Given the description of an element on the screen output the (x, y) to click on. 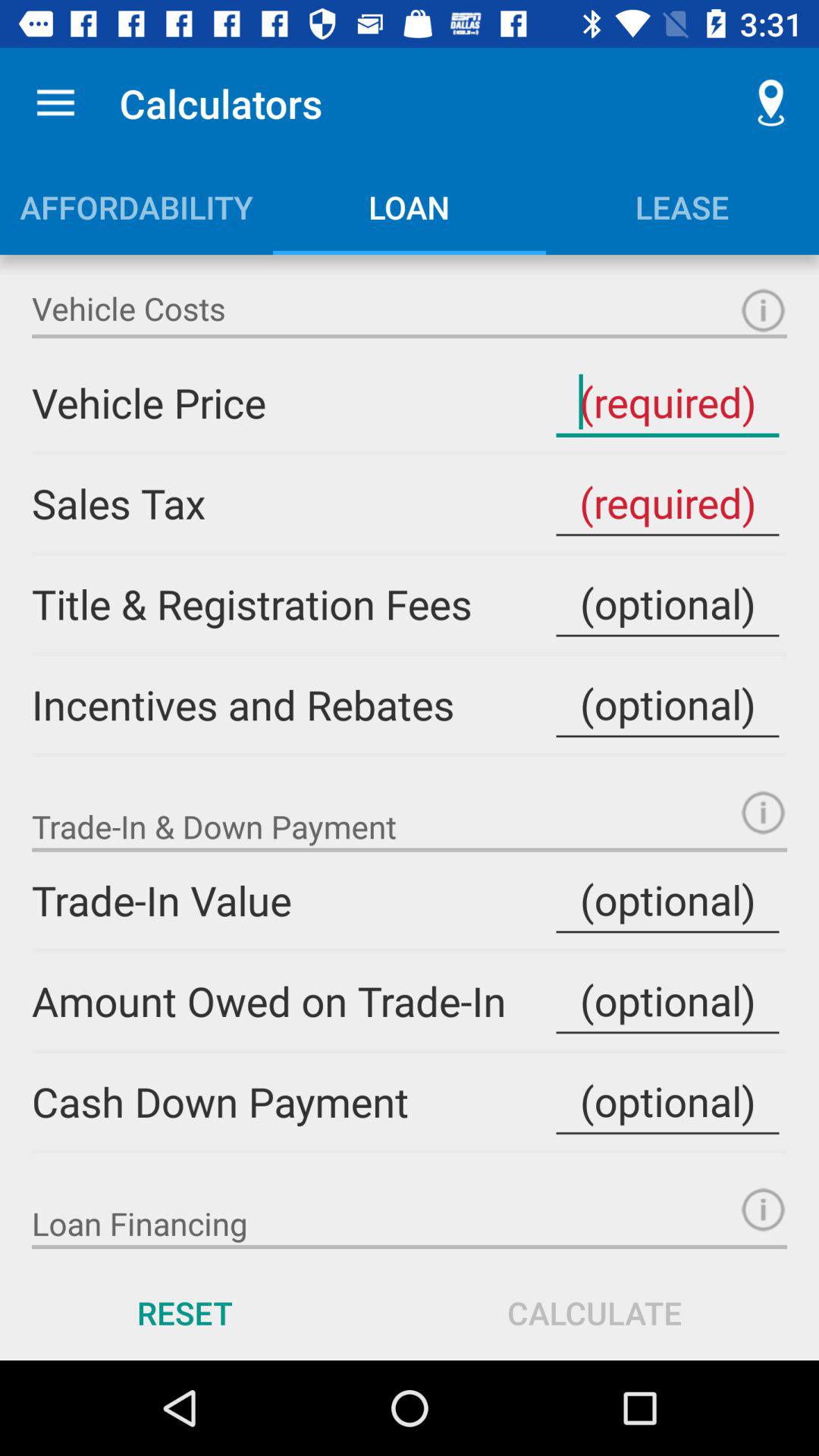
information button (763, 310)
